Given the description of an element on the screen output the (x, y) to click on. 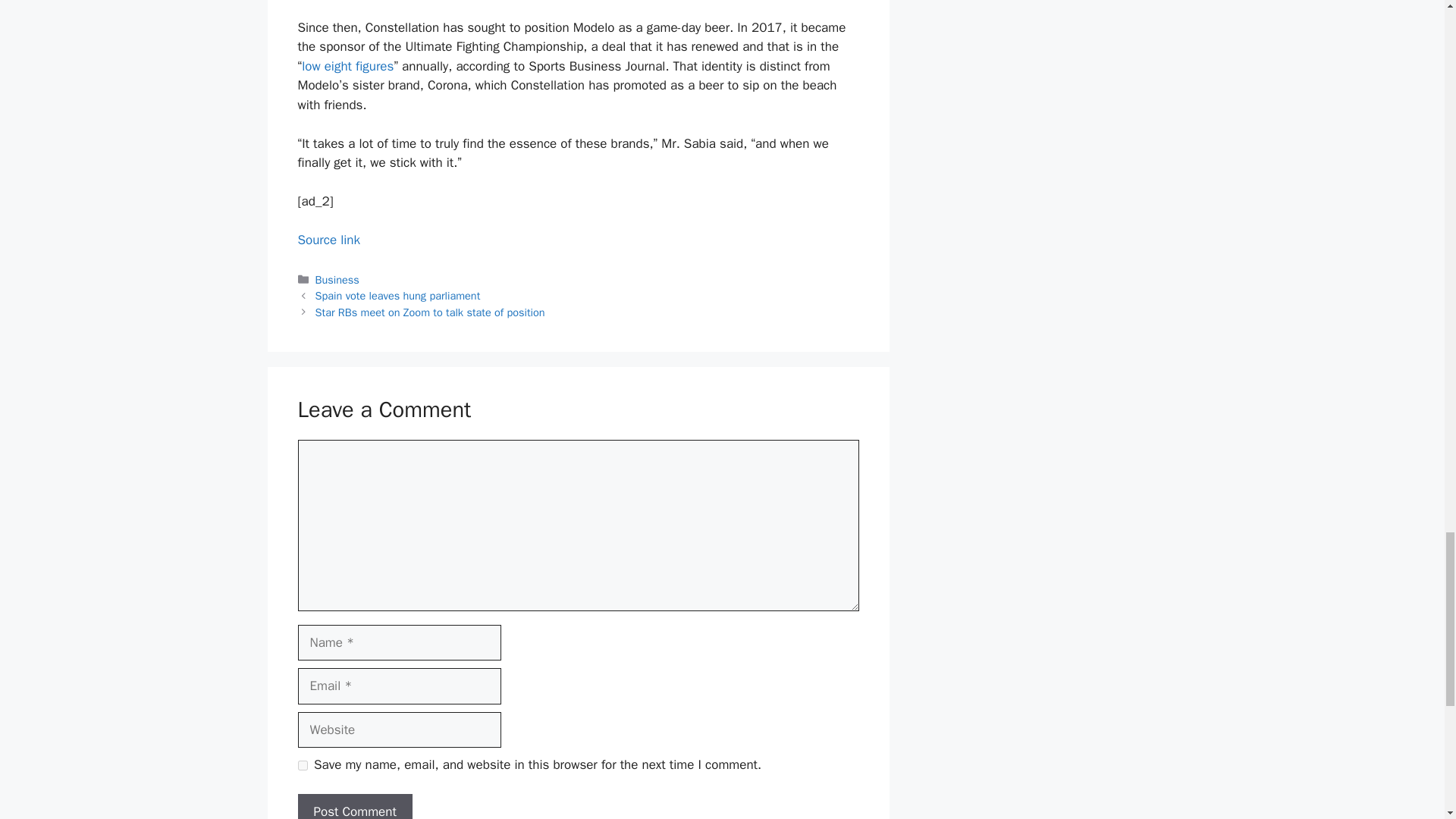
Post Comment (354, 806)
yes (302, 765)
Post Comment (354, 806)
Business (337, 279)
Star RBs meet on Zoom to talk state of position (429, 312)
Spain vote leaves hung parliament (397, 295)
low eight figures (347, 66)
Source link (328, 239)
